Given the description of an element on the screen output the (x, y) to click on. 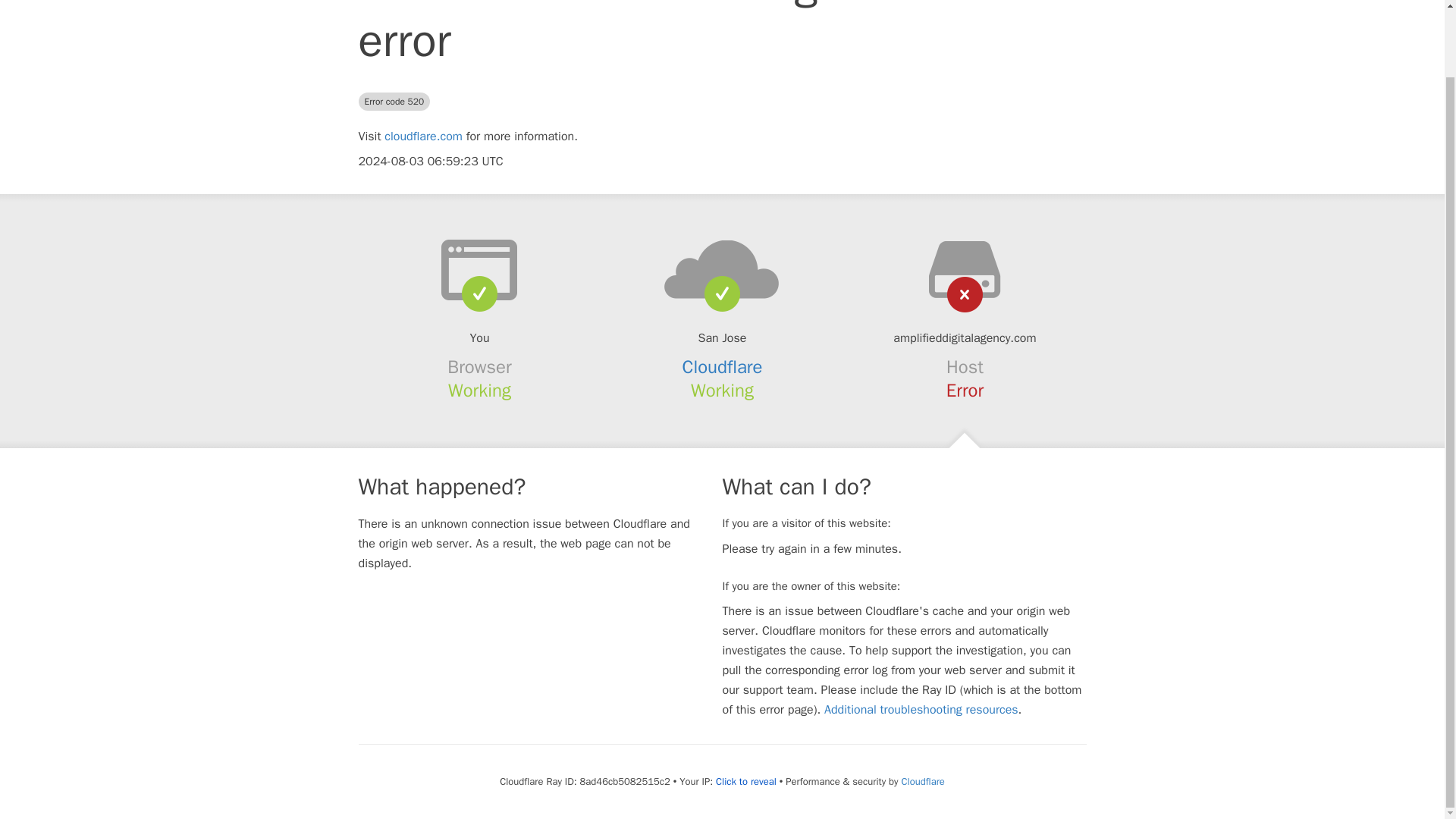
Click to reveal (746, 781)
Cloudflare (922, 780)
Cloudflare (722, 366)
cloudflare.com (423, 136)
Additional troubleshooting resources (920, 709)
